Given the description of an element on the screen output the (x, y) to click on. 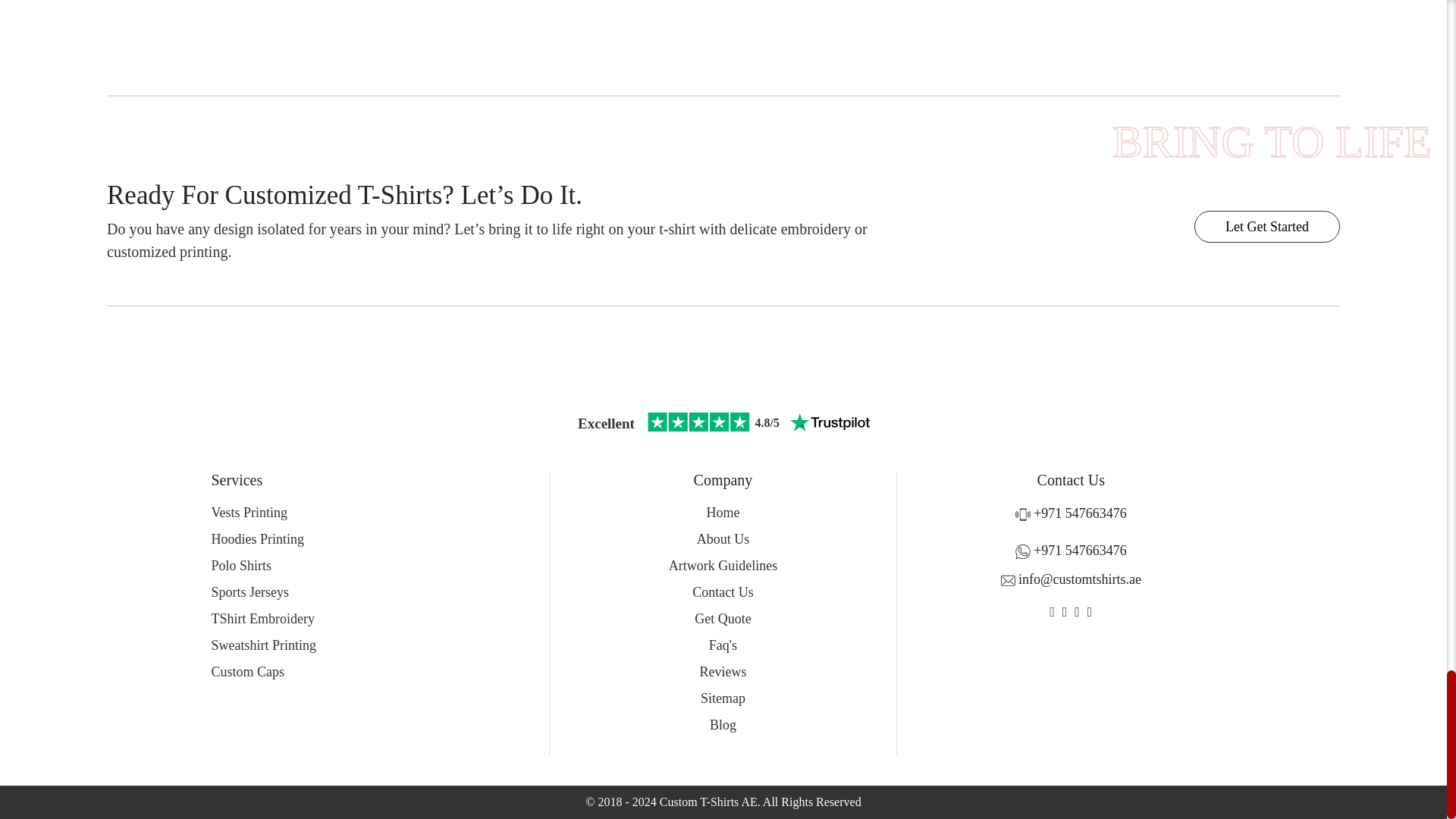
Let Get Started (1266, 226)
Sweatshirt Printing (263, 645)
Hoodies Printing (257, 539)
Sports Jerseys (249, 591)
Vests Printing (248, 512)
Polo Shirts (240, 565)
Artwork Guidelines (722, 565)
Custom Caps (247, 671)
Home (722, 512)
TShirt Embroidery (262, 618)
About Us (723, 539)
